Given the description of an element on the screen output the (x, y) to click on. 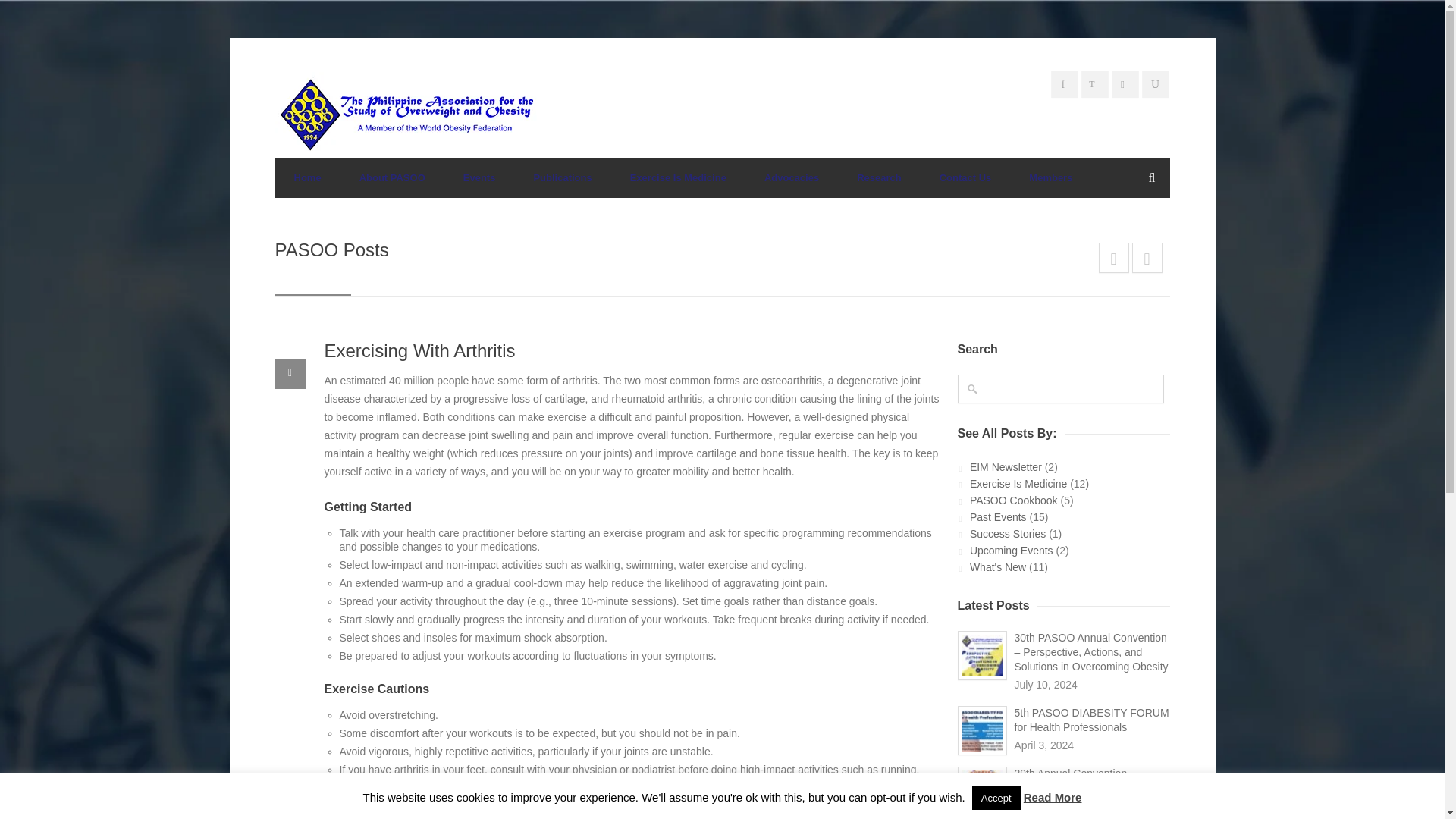
Success Stories (1007, 533)
Past Events (997, 517)
Exercise Is Medicine (1018, 483)
Advocacies (791, 178)
Research (879, 178)
About PASOO (392, 178)
EIM Newsletter (1005, 467)
Publications (561, 178)
Exercise Is Medicine (678, 178)
PASOO Cookbook (1013, 500)
What's New (997, 567)
Instagram (1127, 86)
Facebook (1067, 86)
Twitter (1097, 86)
Contact Us (965, 178)
